Given the description of an element on the screen output the (x, y) to click on. 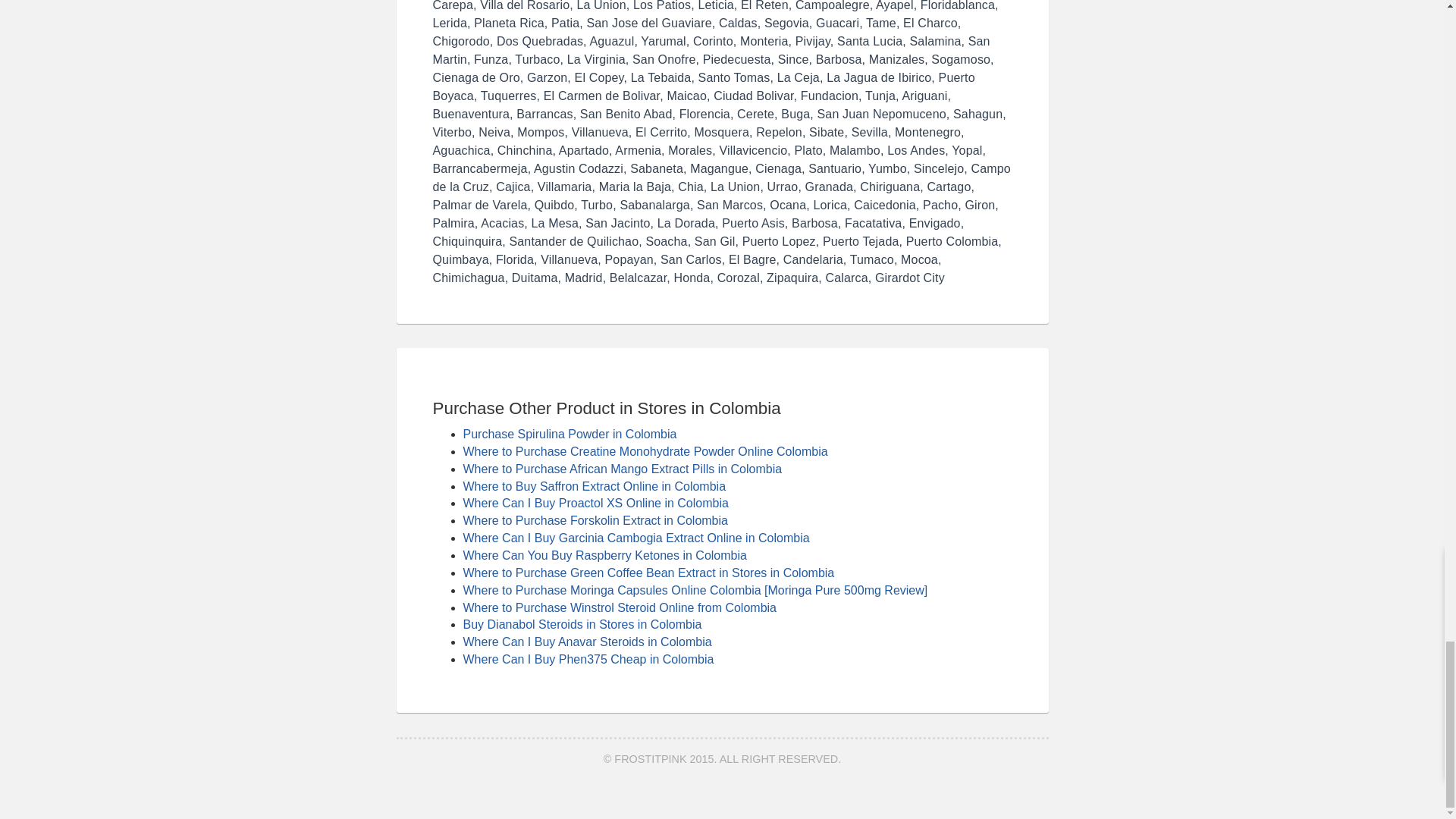
Purchase Spirulina Powder in Colombia (570, 433)
Where Can I Buy Proactol XS Online in Colombia (595, 502)
Where Can I Buy Phen375 Cheap in Colombia (588, 658)
Where Can I Buy Garcinia Cambogia Extract Online in Colombia (636, 537)
Where to Purchase Forskolin Extract in Colombia (594, 520)
Where Can I Buy Anavar Steroids in Colombia (587, 641)
Where to Buy Saffron Extract Online in Colombia (594, 486)
Where to Purchase African Mango Extract Pills in Colombia (622, 468)
Where Can You Buy Raspberry Ketones in Colombia (604, 554)
Purchase Spirulina Powder in Colombia (570, 433)
Where to Purchase Winstrol Steroid Online from Colombia (619, 607)
Buy Dianabol Steroids in Stores in Colombia (582, 624)
